Given the description of an element on the screen output the (x, y) to click on. 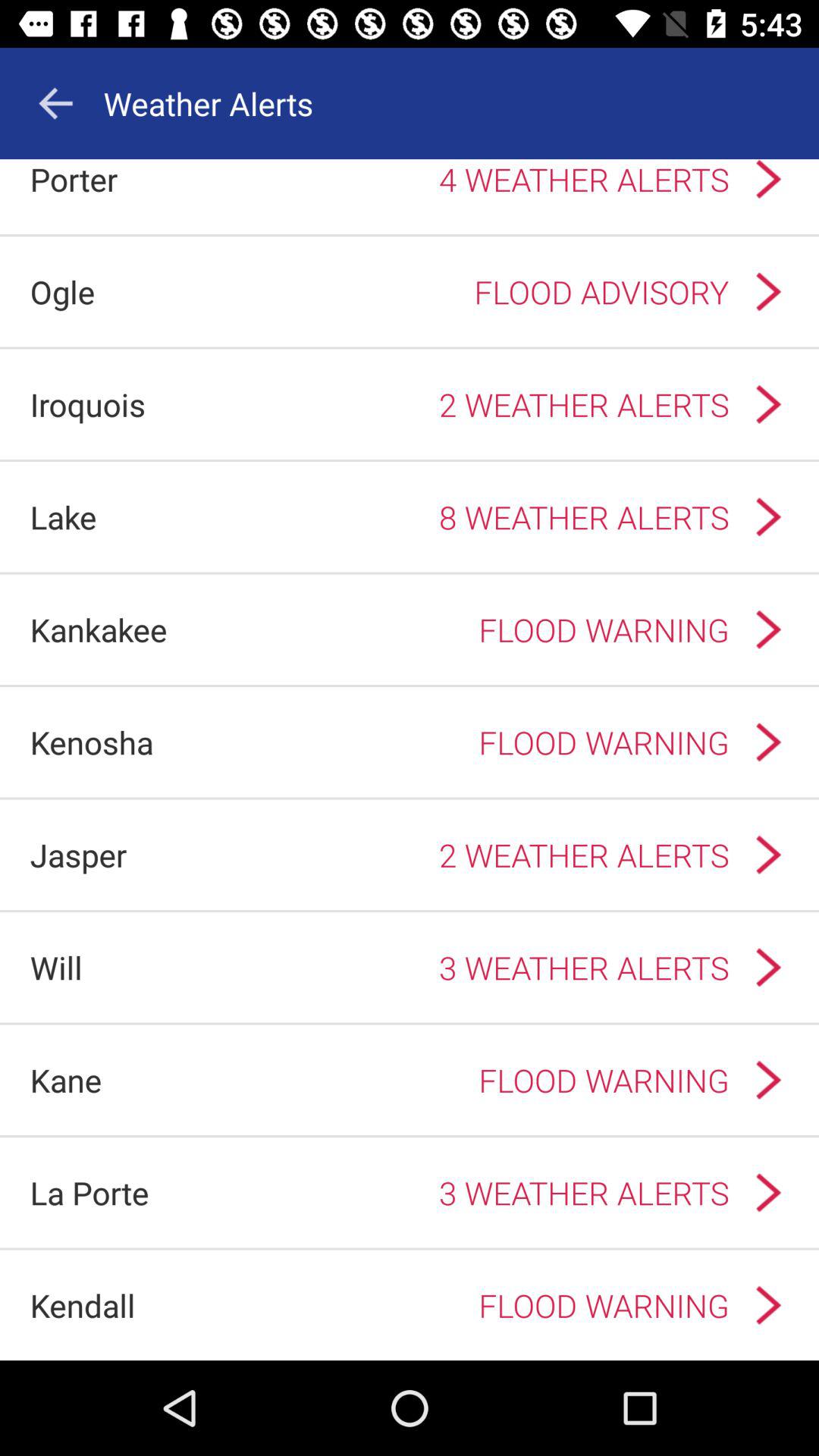
scroll to kankakee item (98, 629)
